Given the description of an element on the screen output the (x, y) to click on. 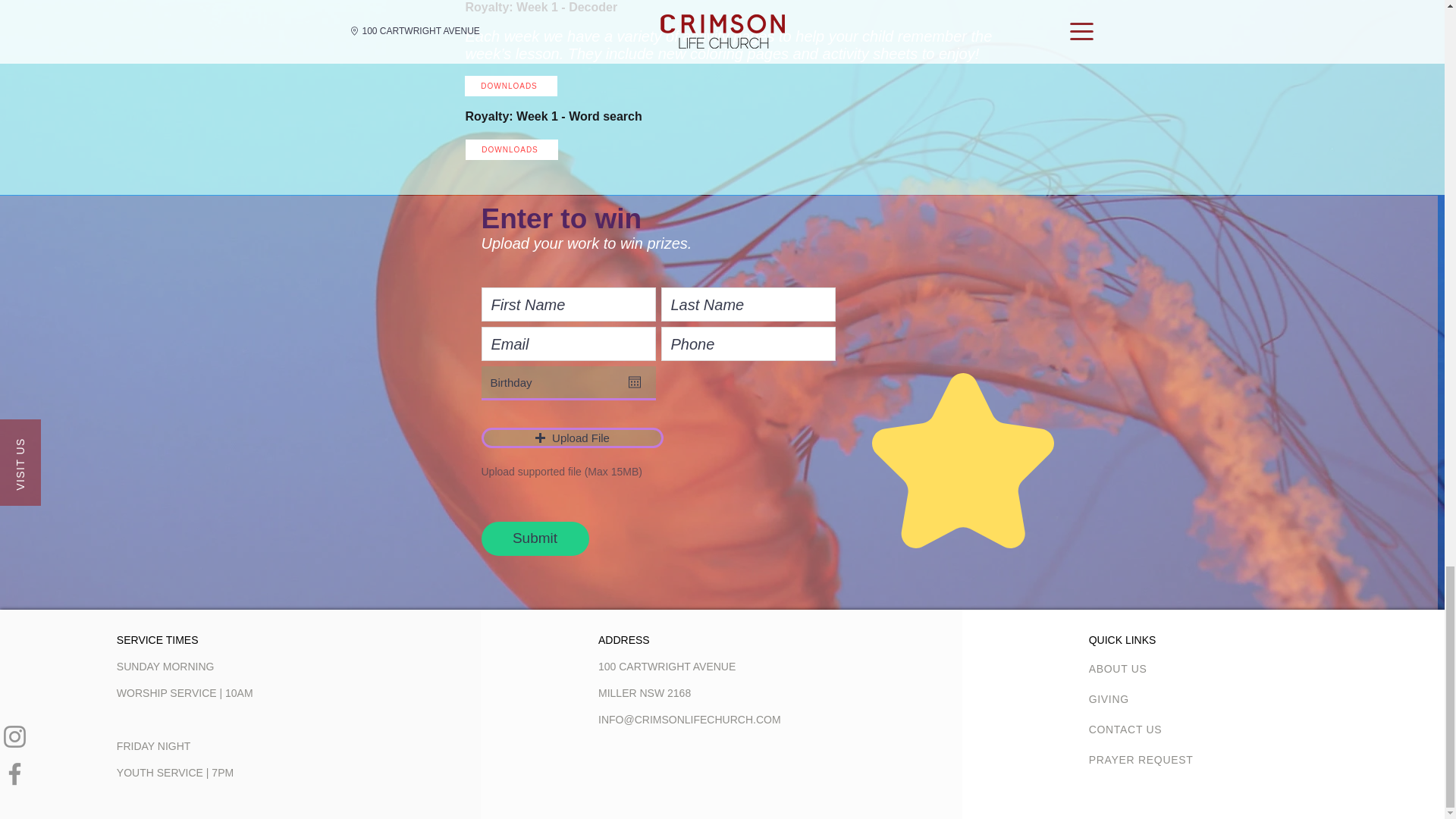
CONTACT US (1142, 729)
ABOUT US (1142, 668)
PRAYER REQUEST (1142, 759)
DOWNLOADS (510, 86)
DOWNLOADS (511, 149)
Submit (534, 538)
GIVING (1142, 698)
